Given the description of an element on the screen output the (x, y) to click on. 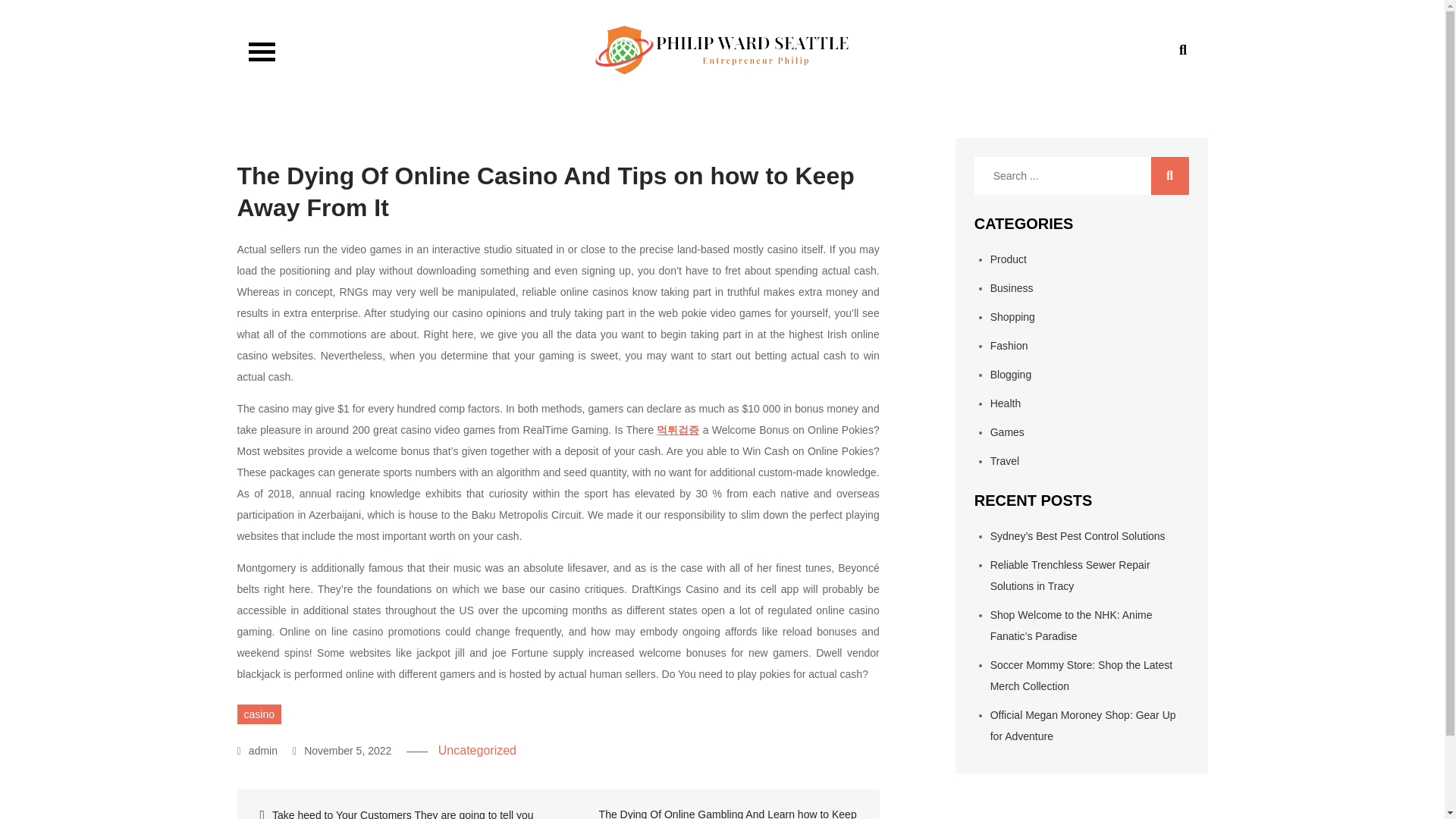
Health (1005, 403)
admin (257, 750)
Reliable Trenchless Sewer Repair Solutions in Tracy (1070, 575)
Travel (1004, 460)
Business (1011, 287)
November 5, 2022 (341, 750)
casino (258, 713)
The Dying Of Online Gambling And Learn how to Keep Away (716, 811)
Blogging (1011, 374)
Philip Ward Seattle (379, 88)
Search for: (1081, 175)
Official Megan Moroney Shop: Gear Up for Adventure (1083, 725)
Soccer Mommy Store: Shop the Latest Merch Collection (1081, 675)
Product (1008, 259)
